Given the description of an element on the screen output the (x, y) to click on. 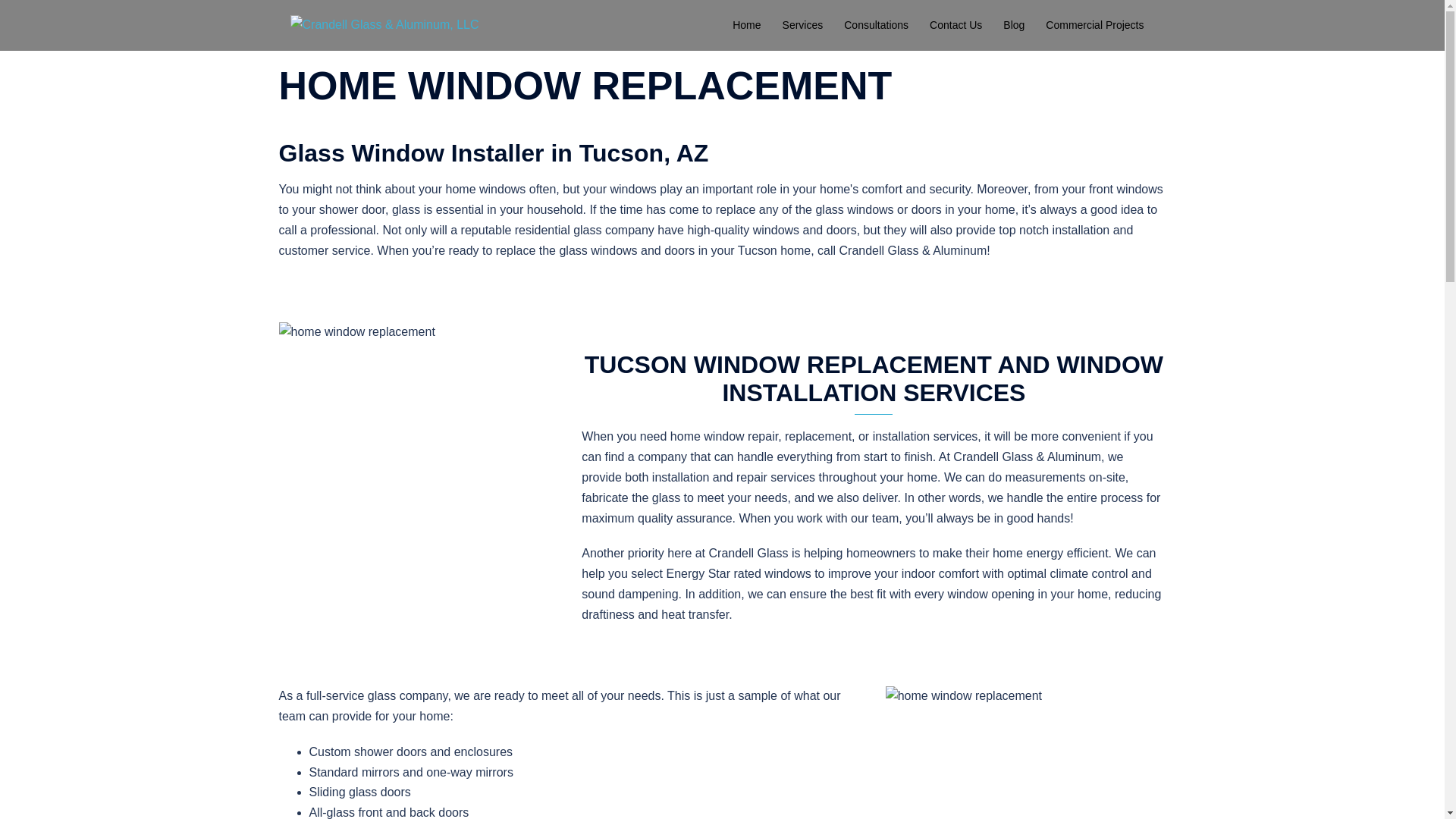
Home (746, 25)
fireplace corner (1025, 752)
Services (803, 25)
Energy Efficient Windows (419, 424)
Blog (1014, 25)
Commercial Projects (1093, 25)
Consultations (876, 25)
Contact Us (955, 25)
